Given the description of an element on the screen output the (x, y) to click on. 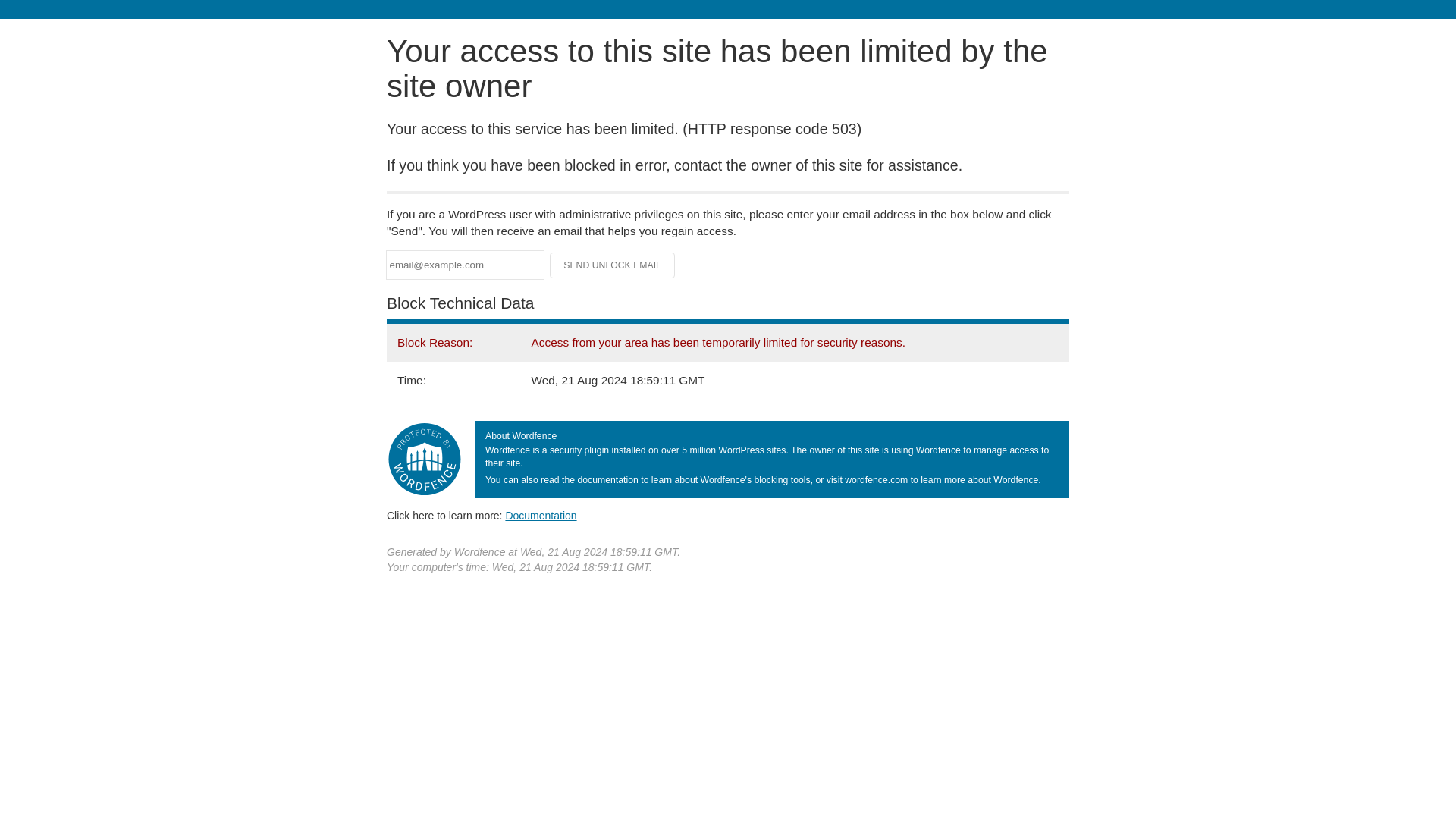
Send Unlock Email (612, 265)
Send Unlock Email (612, 265)
Documentation (540, 515)
